Given the description of an element on the screen output the (x, y) to click on. 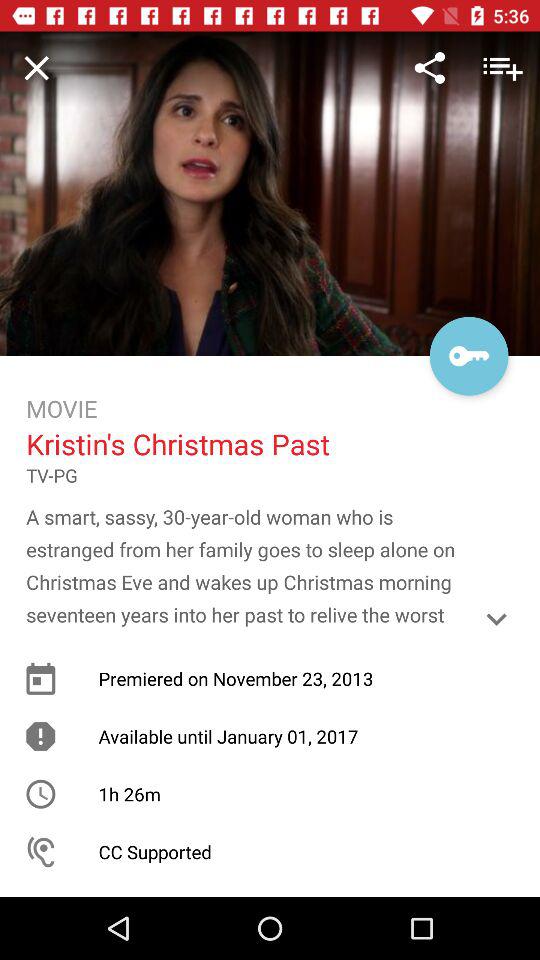
turn off the item at the top left corner (36, 67)
